Given the description of an element on the screen output the (x, y) to click on. 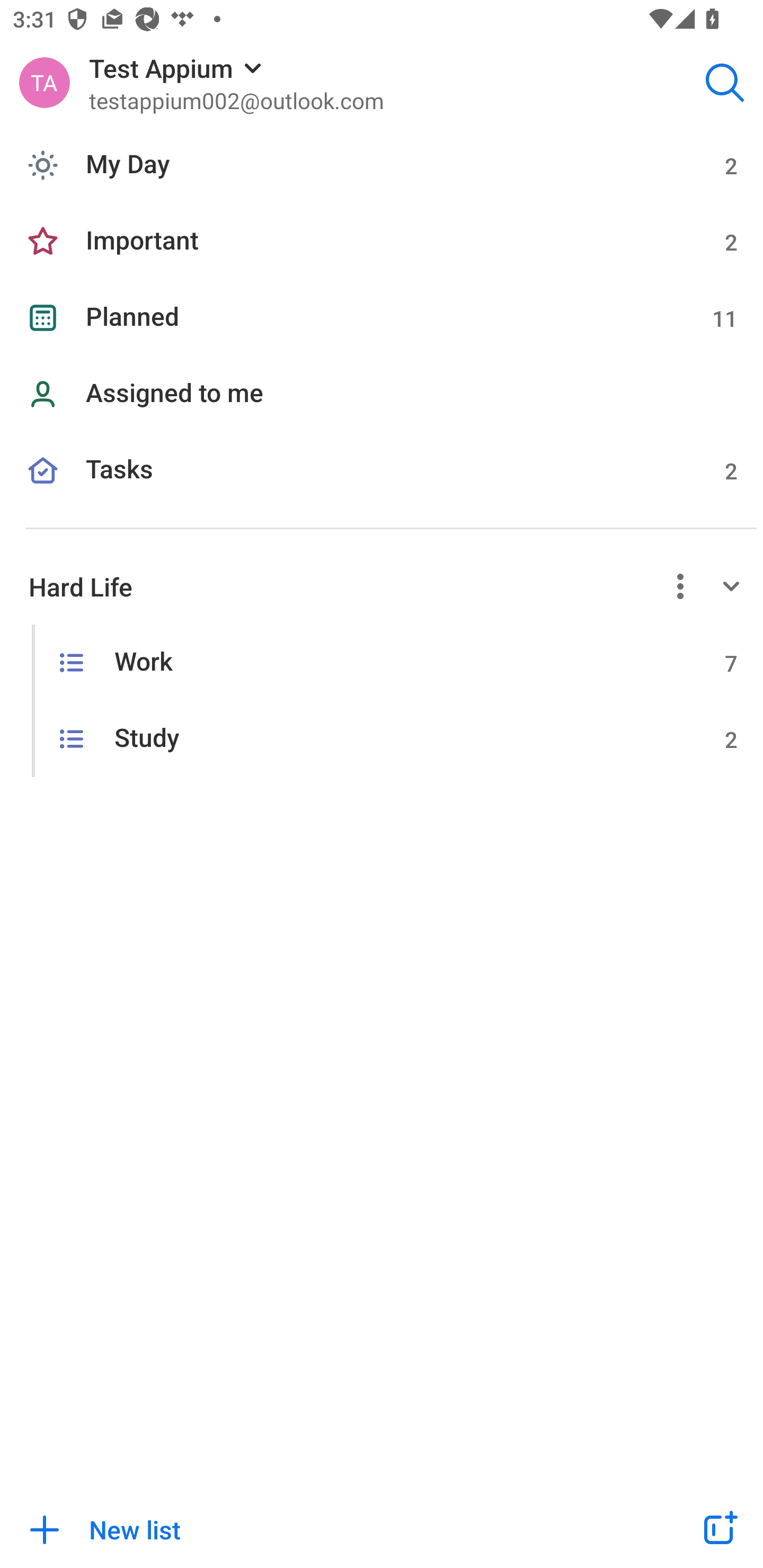
Tasks, 2 tasks Tasks 2 (381, 490)
